Given the description of an element on the screen output the (x, y) to click on. 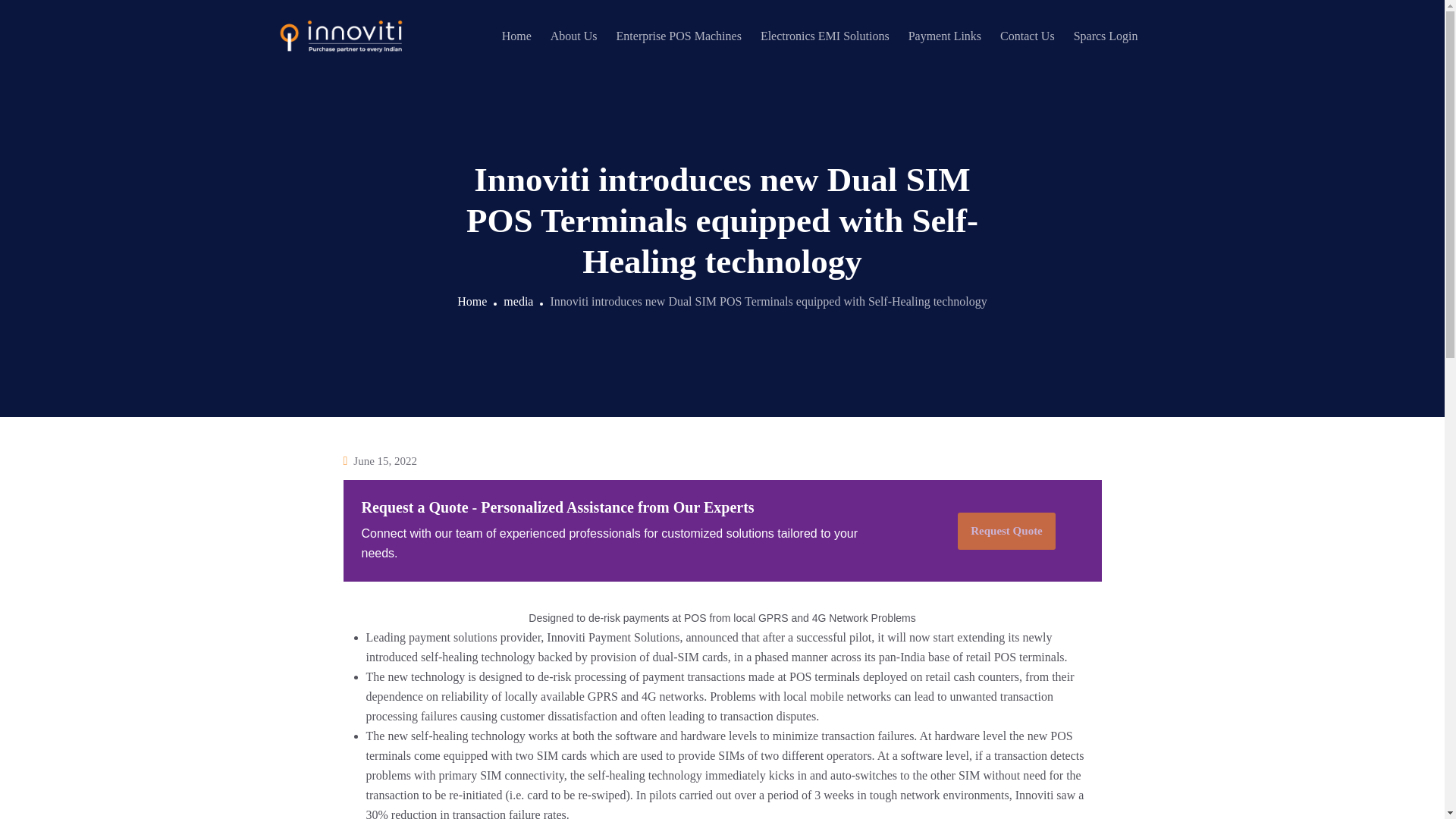
June 15, 2022 (384, 460)
Electronics EMI Solutions (824, 35)
Payment Links (944, 35)
Sparcs Login (1106, 35)
Electronics EMI Solutions (824, 35)
media (517, 300)
Enterprise POS Machines (678, 35)
Request Quote (1006, 530)
Sparcs Login (1106, 35)
Enterprise POS Machines (678, 35)
Contact Us (1027, 35)
Home (471, 300)
About Us (573, 35)
Home (516, 35)
Home (516, 35)
